Given the description of an element on the screen output the (x, y) to click on. 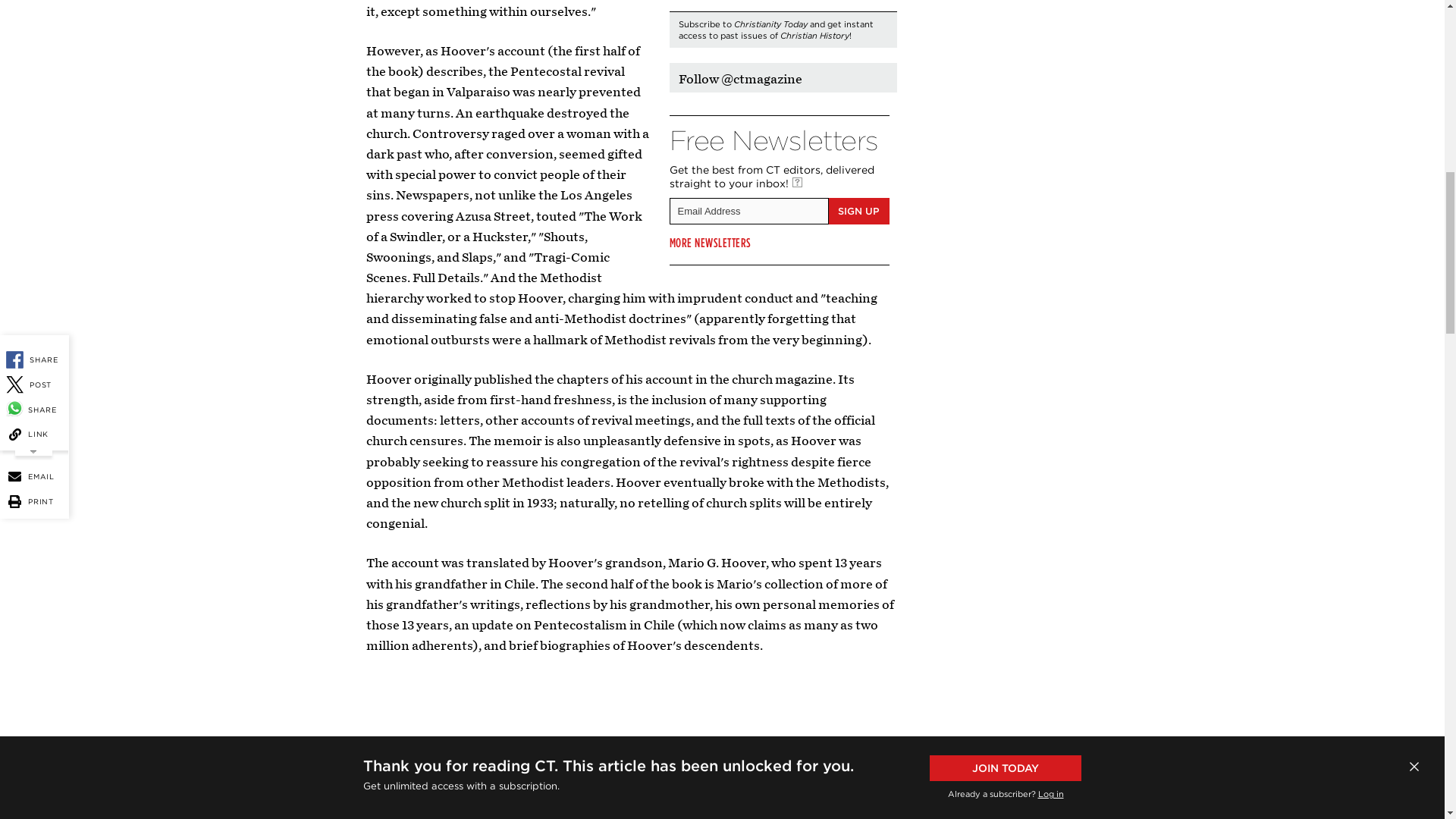
Email Address (748, 211)
Sign Up (858, 211)
